Given the description of an element on the screen output the (x, y) to click on. 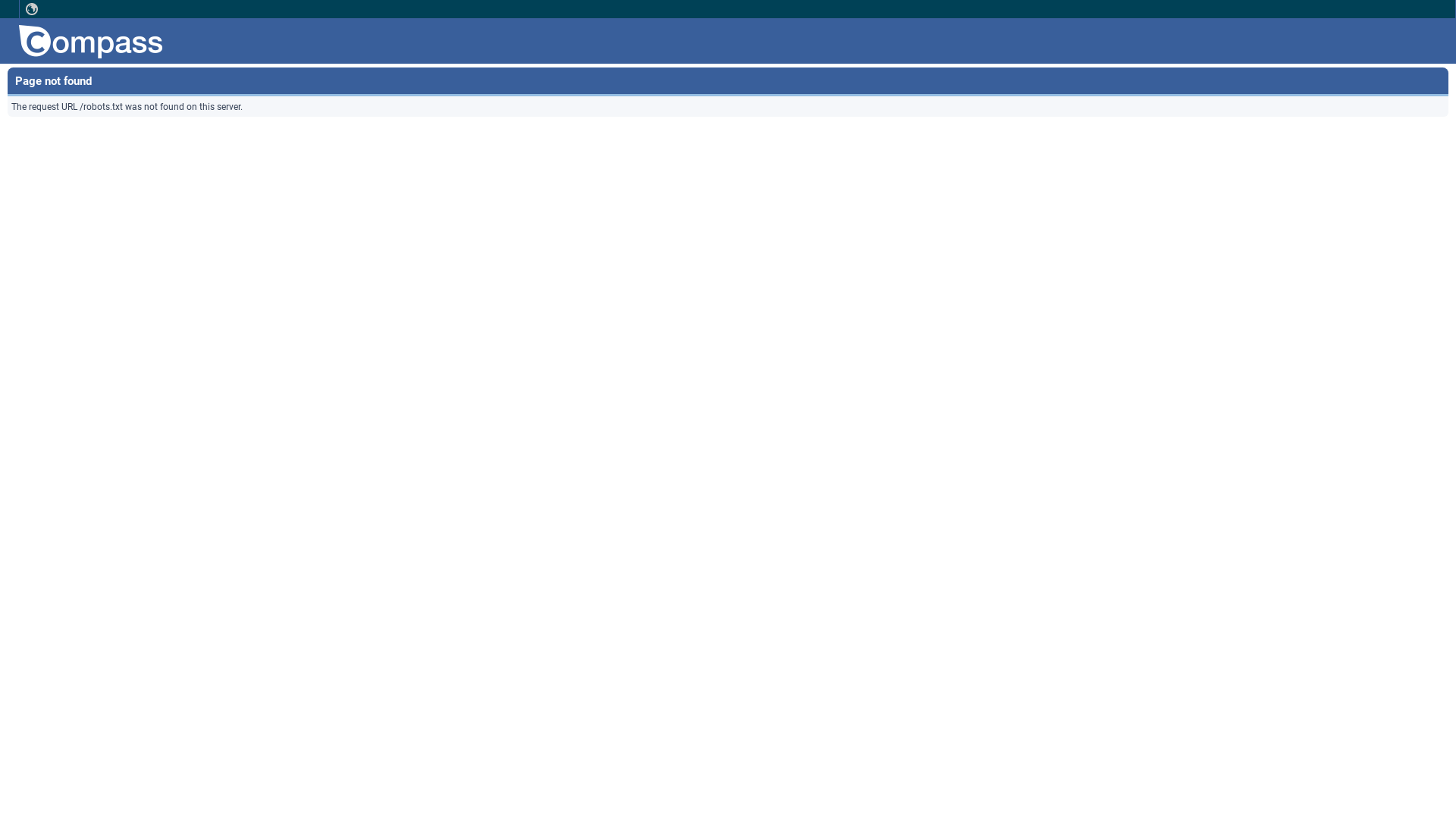
  Element type: text (31, 9)
